Given the description of an element on the screen output the (x, y) to click on. 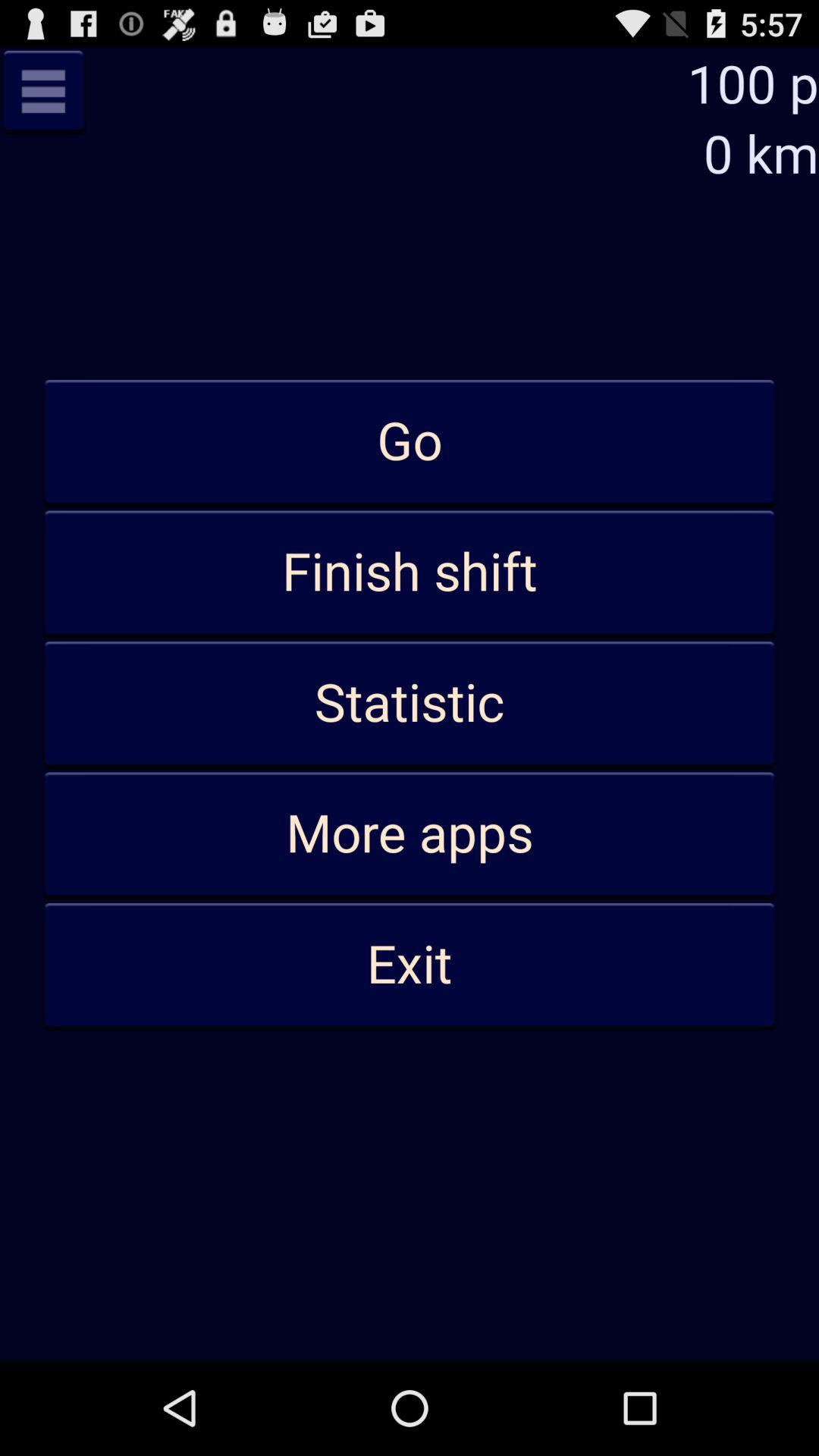
open app below the more apps item (409, 965)
